Given the description of an element on the screen output the (x, y) to click on. 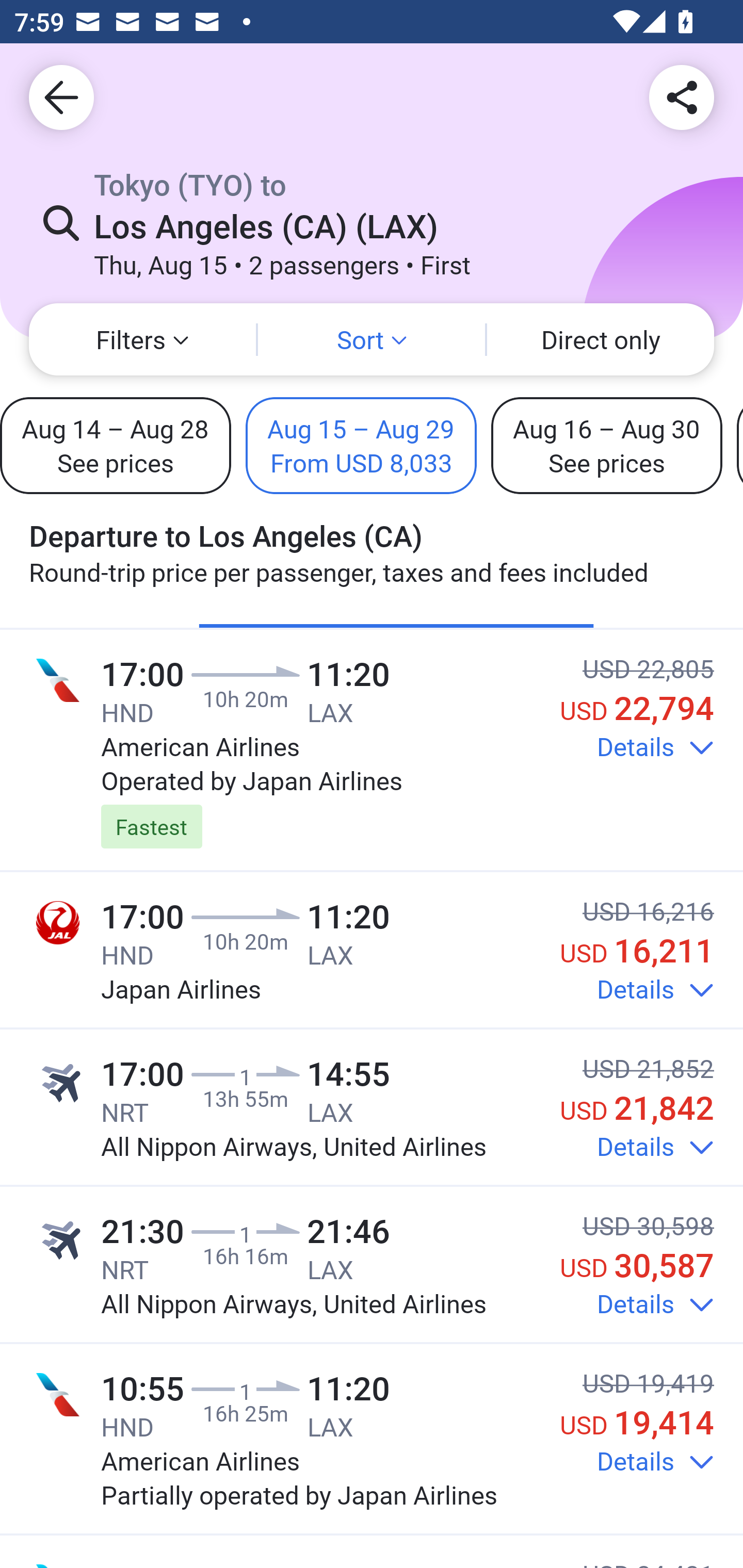
Filters (141, 339)
Sort (371, 339)
Direct only (600, 339)
Aug 14 – Aug 28 See prices (115, 444)
Aug 15 – Aug 29 From USD 8,033 (361, 444)
Aug 16 – Aug 30 See prices (606, 444)
